Given the description of an element on the screen output the (x, y) to click on. 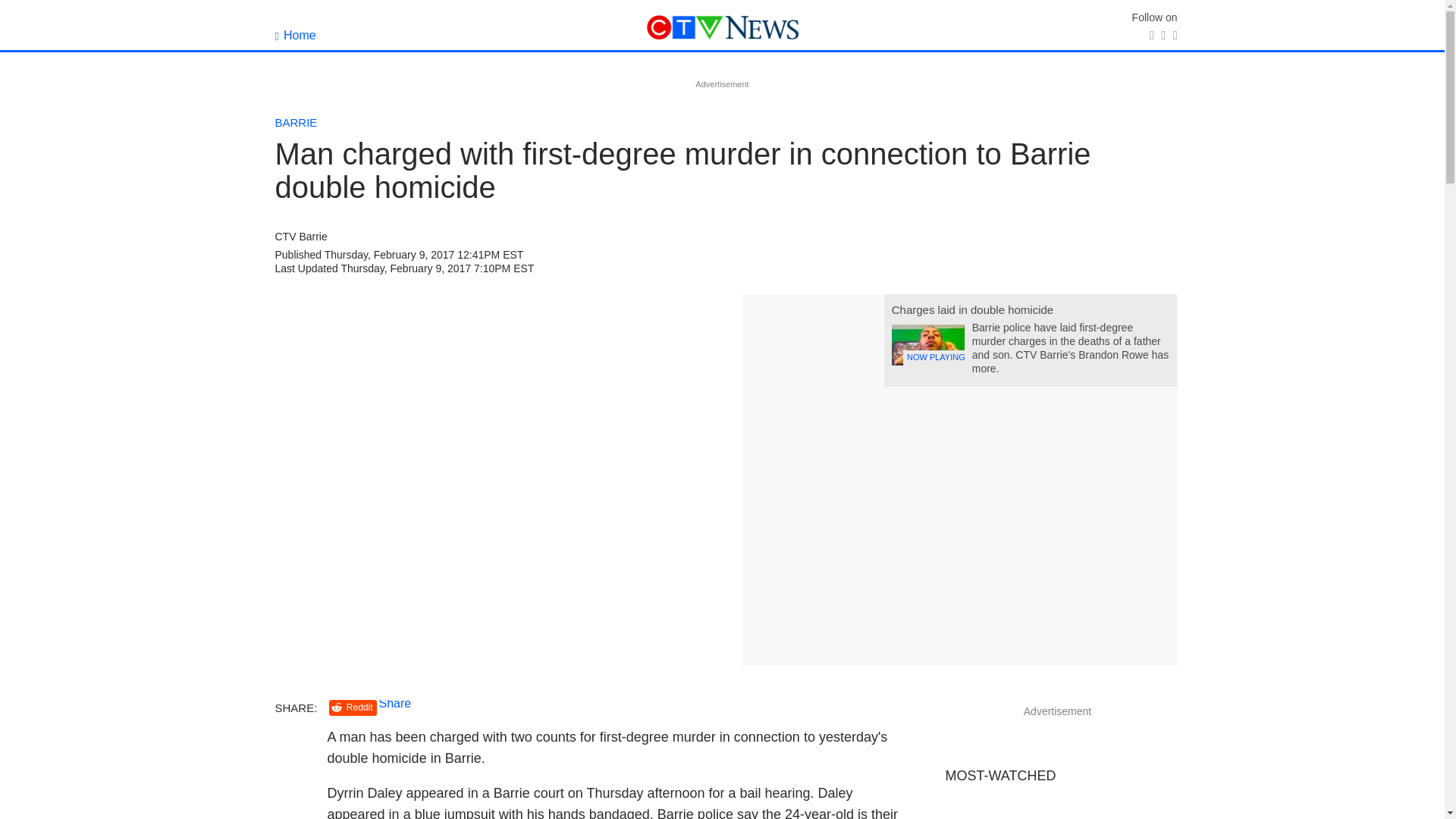
Charges laid in double homicide (971, 309)
Share (395, 703)
Reddit (353, 707)
Home (295, 34)
BARRIE (296, 122)
  NOW PLAYING (927, 344)
